Given the description of an element on the screen output the (x, y) to click on. 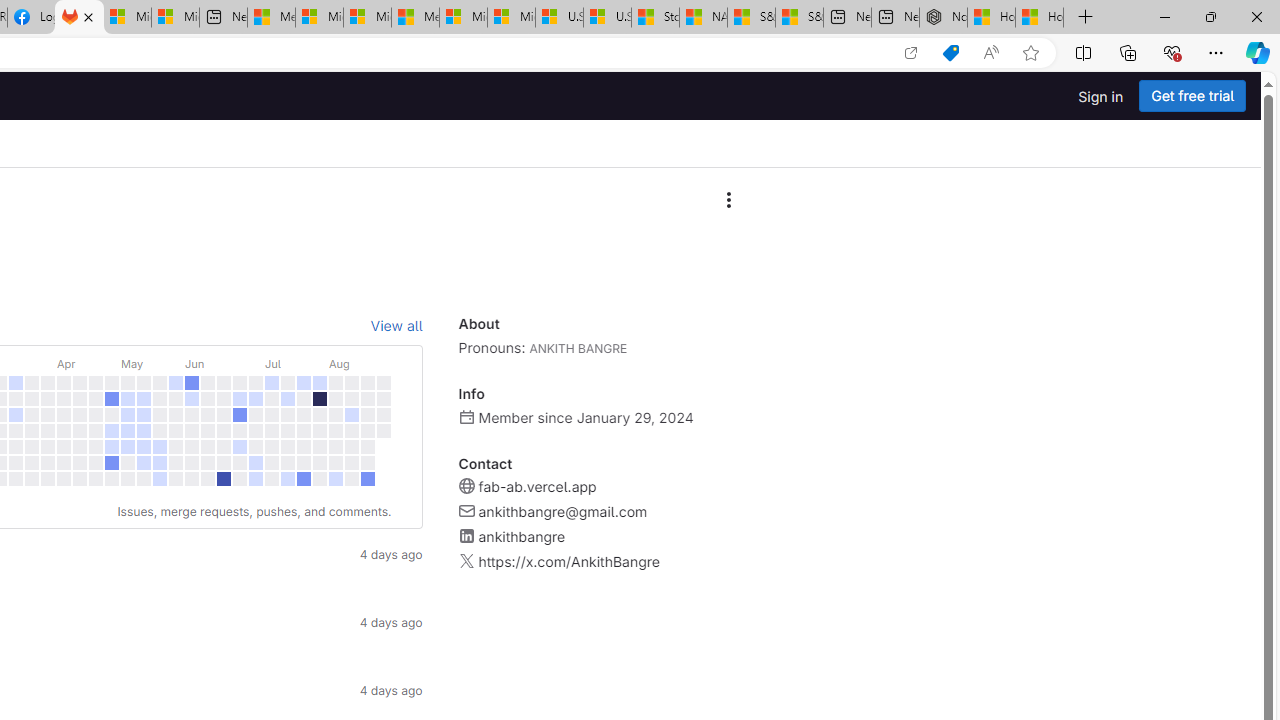
ankithbangre (521, 536)
Sign in (1100, 95)
